Given the description of an element on the screen output the (x, y) to click on. 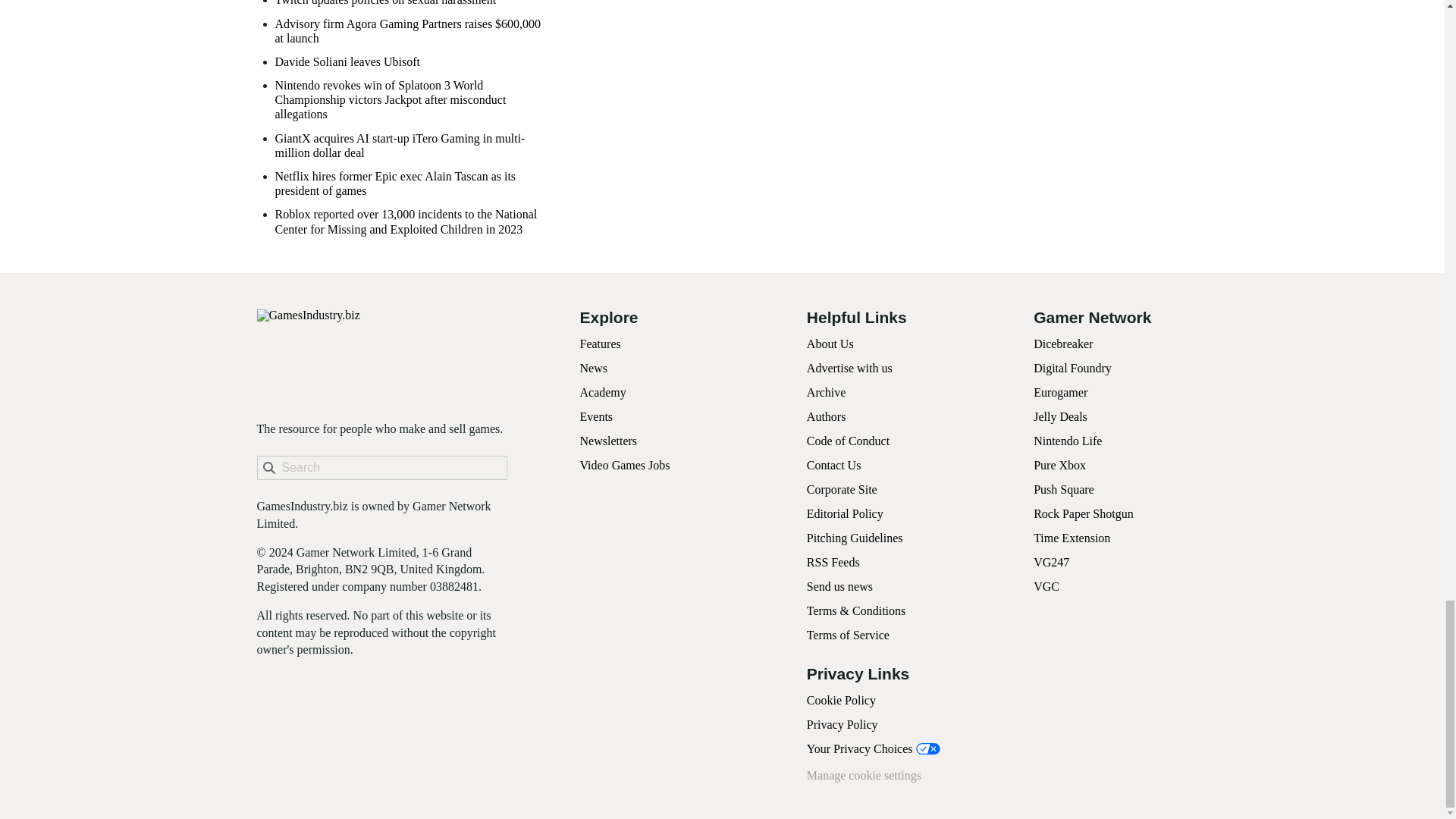
Academy (602, 391)
Features (599, 343)
Davide Soliani leaves Ubisoft (347, 61)
Twitch updates policies on sexual harassment (385, 3)
News (593, 367)
Newsletters (608, 440)
Advertise with us (849, 367)
Events (595, 416)
Video Games Jobs (624, 464)
Archive (825, 391)
About Us (829, 343)
